Given the description of an element on the screen output the (x, y) to click on. 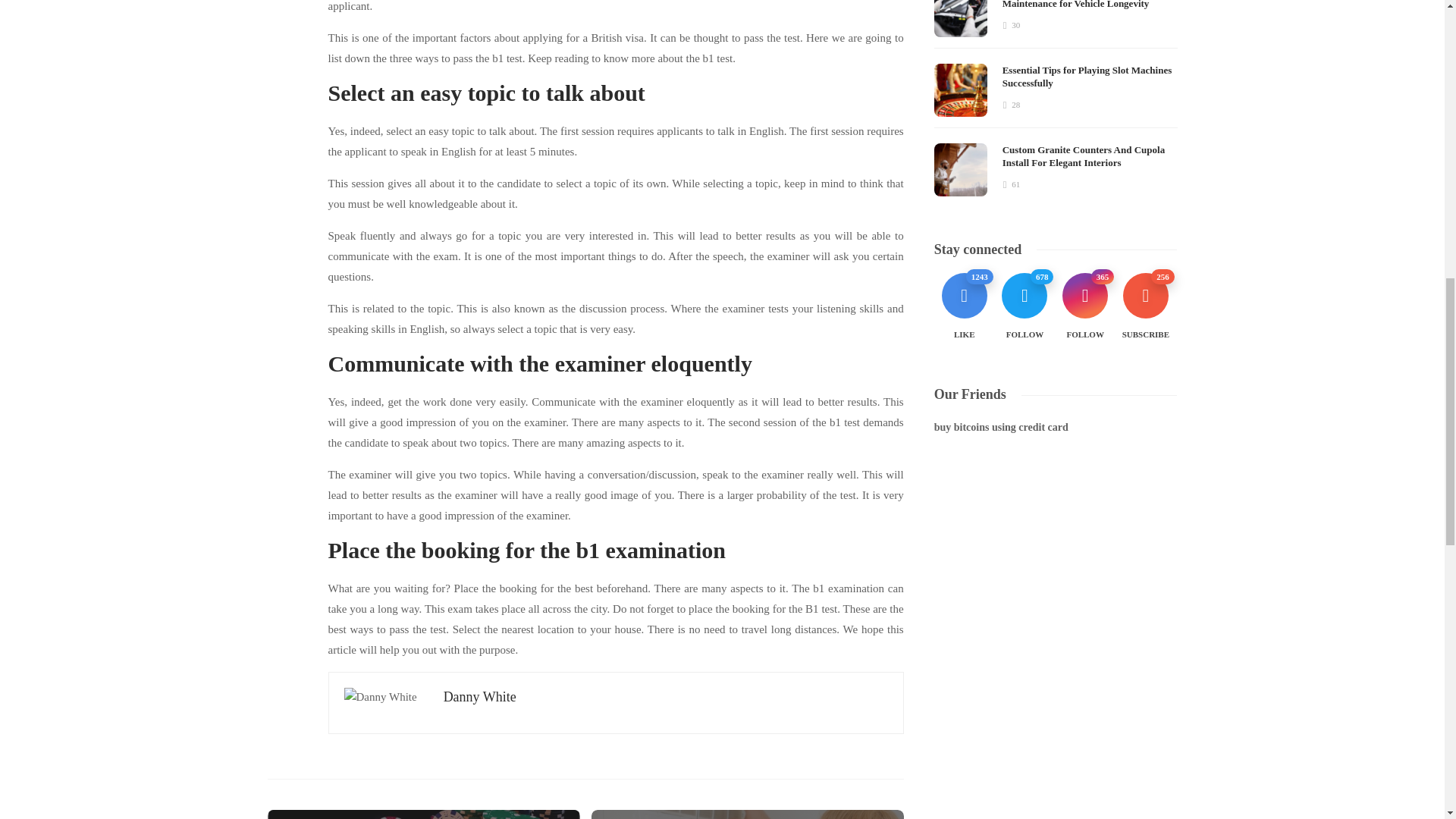
Danny White (480, 696)
